Given the description of an element on the screen output the (x, y) to click on. 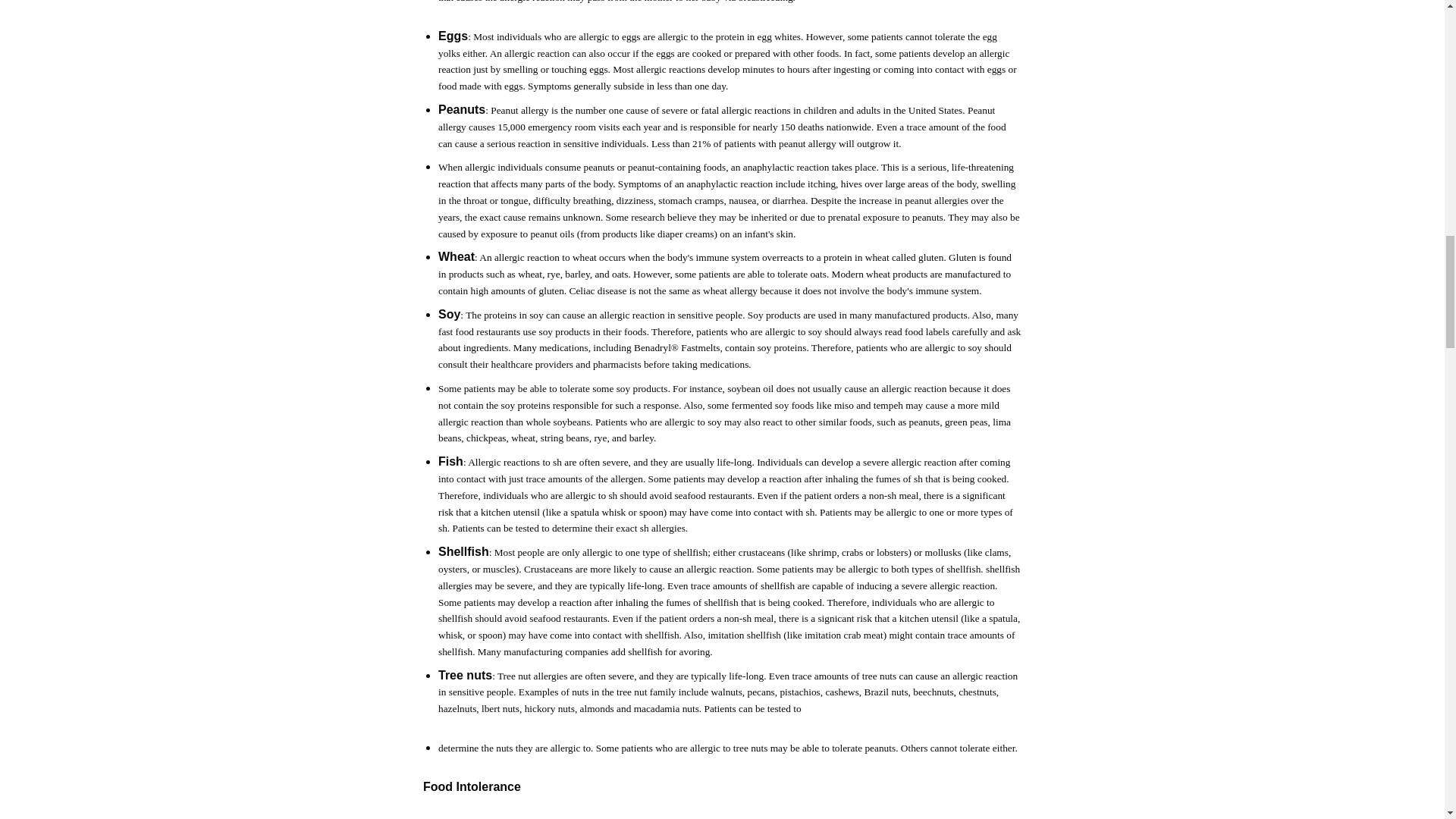
Page 4 (722, 779)
